Given the description of an element on the screen output the (x, y) to click on. 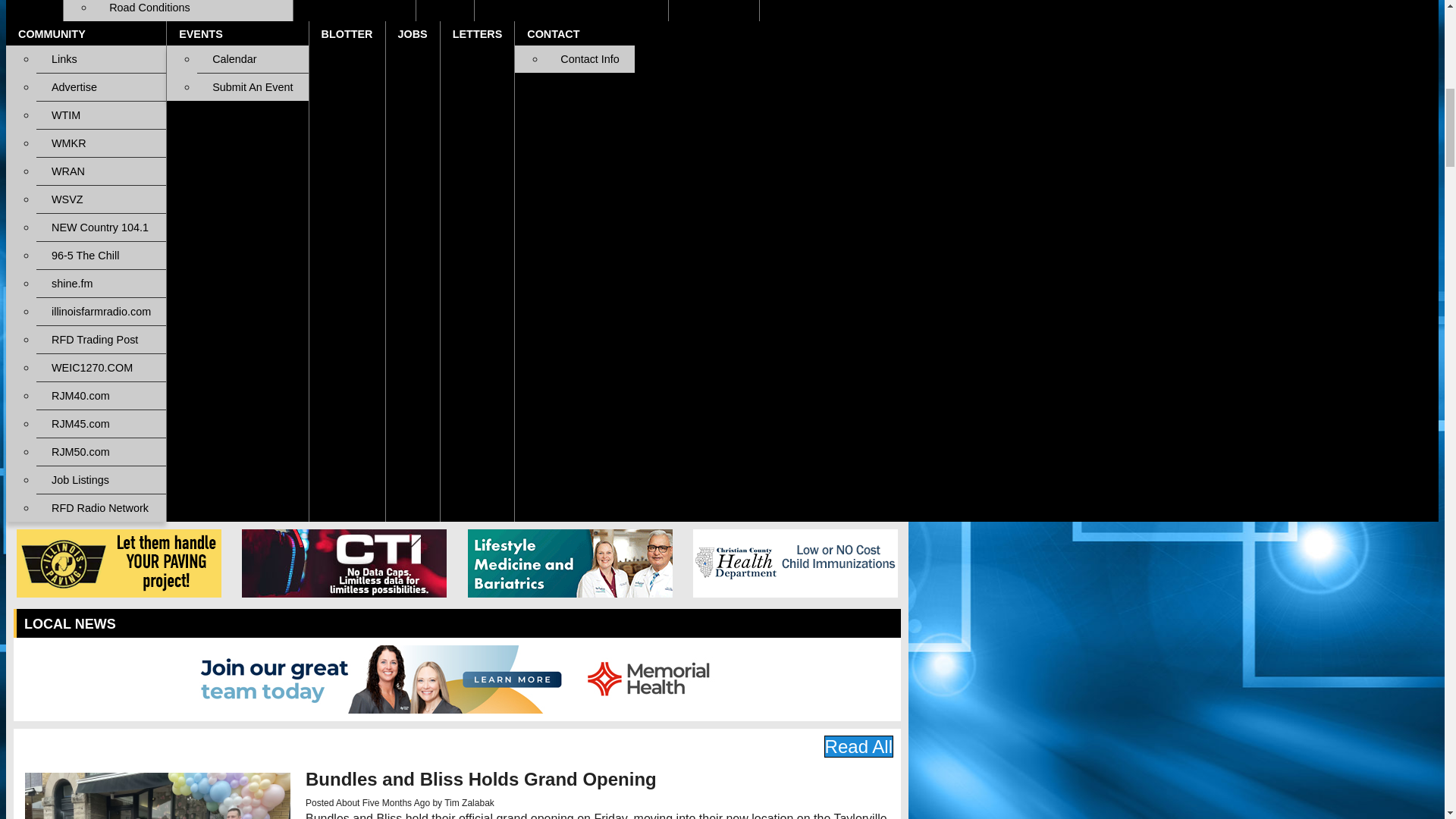
Road Conditions (193, 10)
Read All (858, 746)
